Given the description of an element on the screen output the (x, y) to click on. 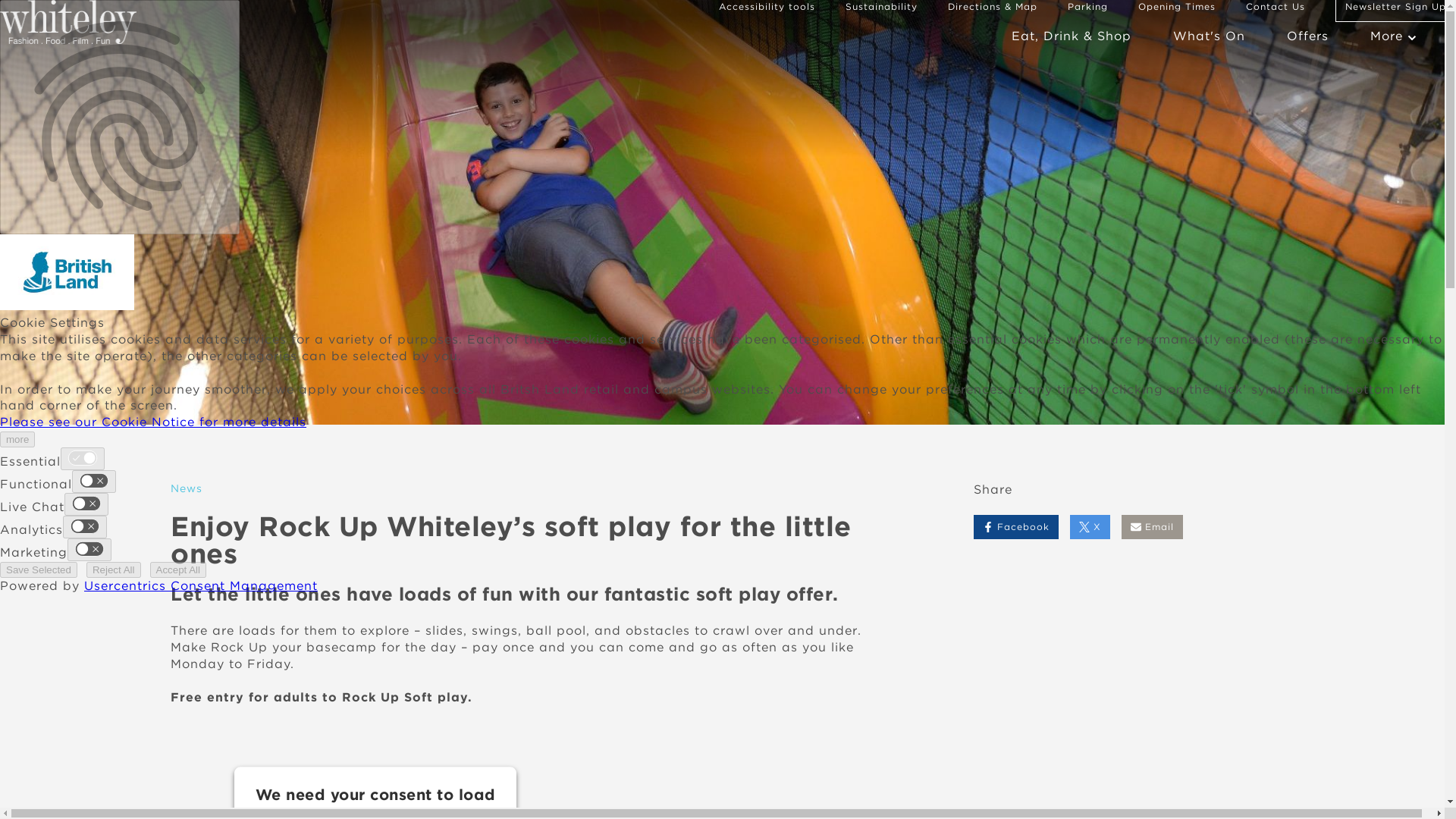
Recite me tool (767, 6)
Submit (516, 730)
Opening Times (1176, 6)
Sustainability (881, 6)
Parking (1087, 6)
